Given the description of an element on the screen output the (x, y) to click on. 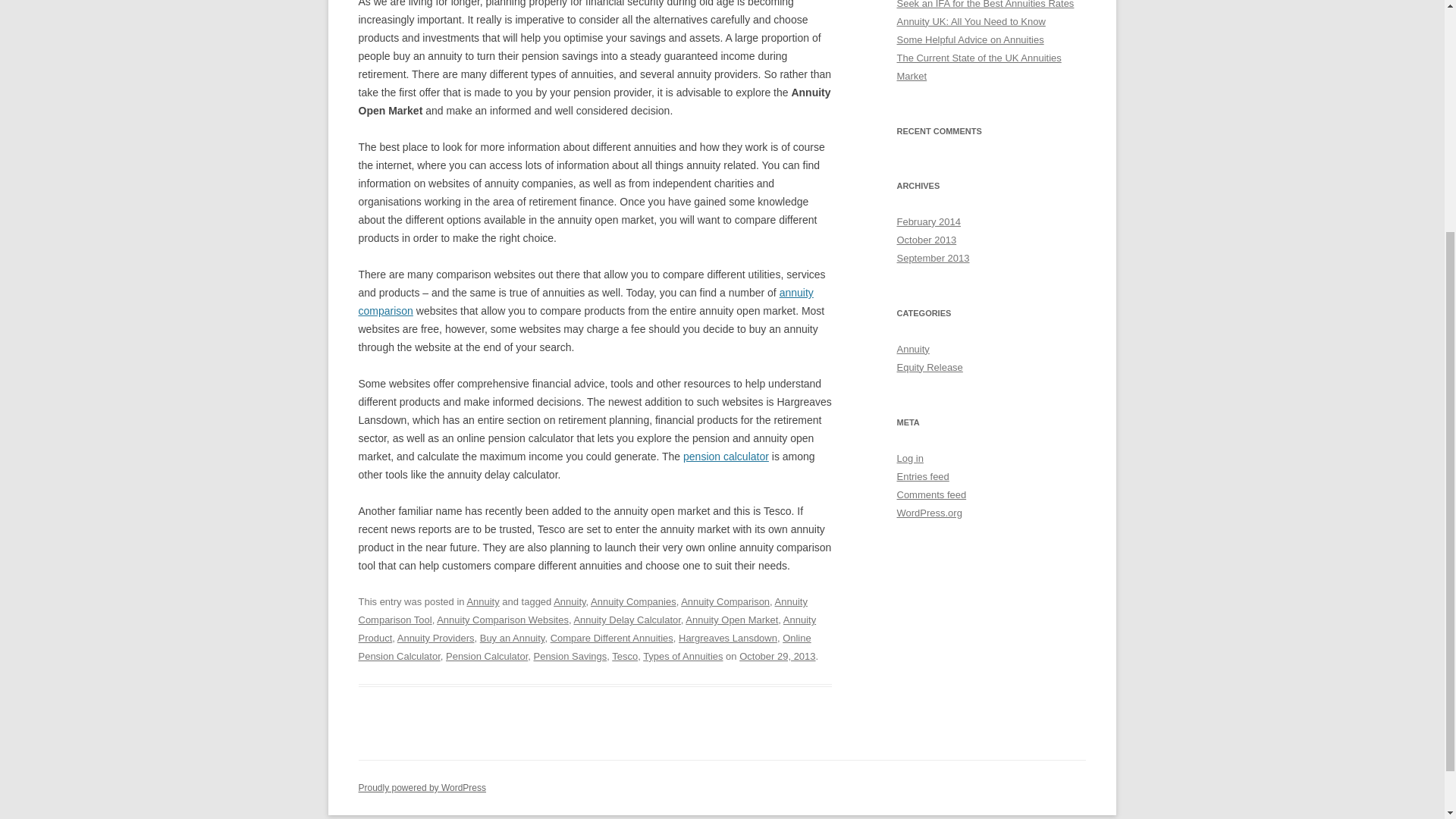
Annuity (482, 601)
Some Helpful Advice on Annuities (969, 39)
Annuity Comparison (725, 601)
Annuity (912, 348)
Annuity Open Market (731, 619)
Types of Annuities (682, 655)
Equity Release (929, 367)
Annuity (569, 601)
Annuity Delay Calculator (626, 619)
3:17 PM (777, 655)
The Current State of the UK Annuities Market (978, 66)
Online Pension Calculator (584, 646)
Annuity UK: All You Need to Know (970, 21)
September 2013 (932, 257)
Annuity Comparison Websites (502, 619)
